Given the description of an element on the screen output the (x, y) to click on. 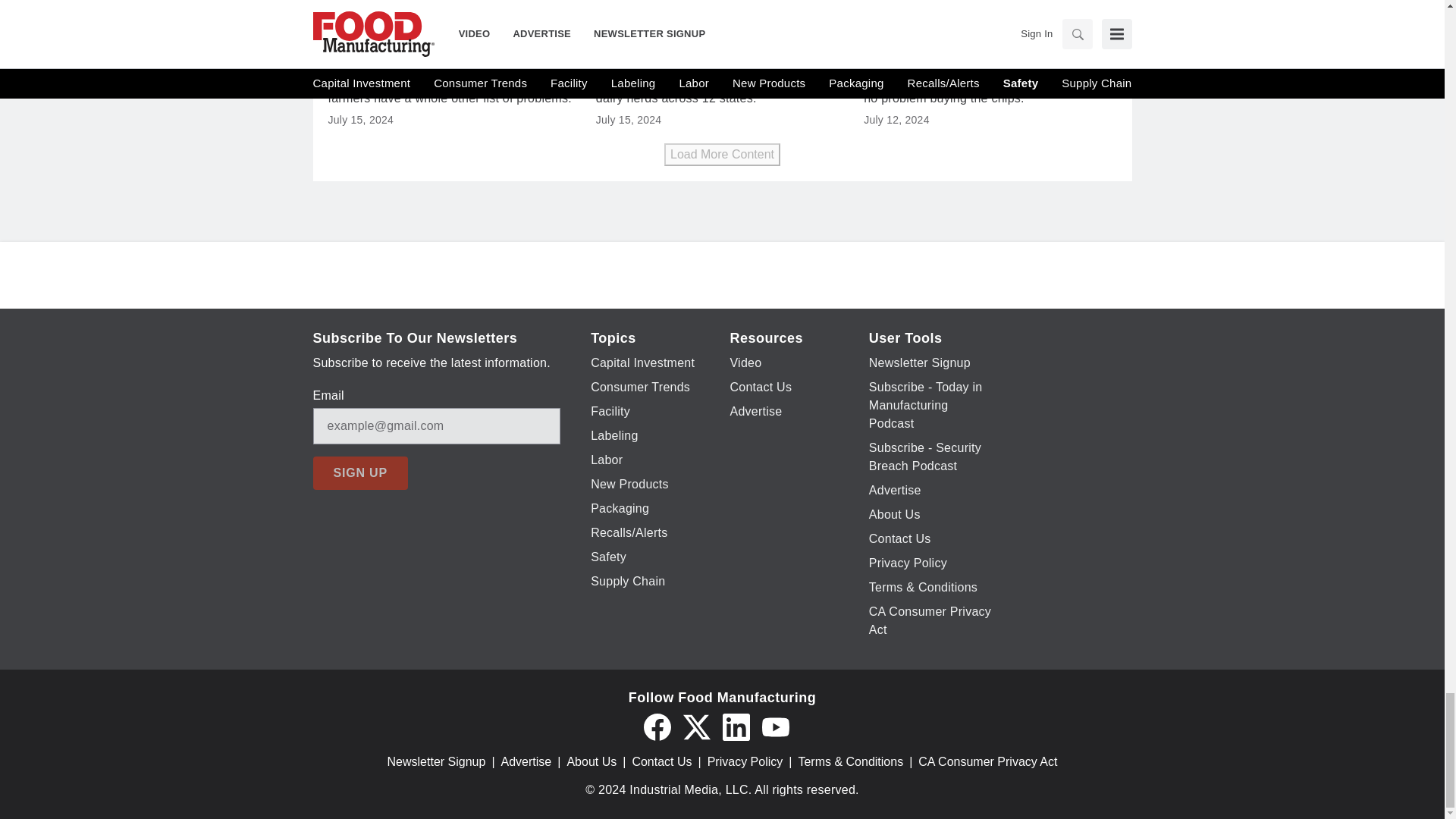
YouTube icon (775, 727)
Twitter X icon (696, 727)
LinkedIn icon (735, 727)
Facebook icon (656, 727)
